Given the description of an element on the screen output the (x, y) to click on. 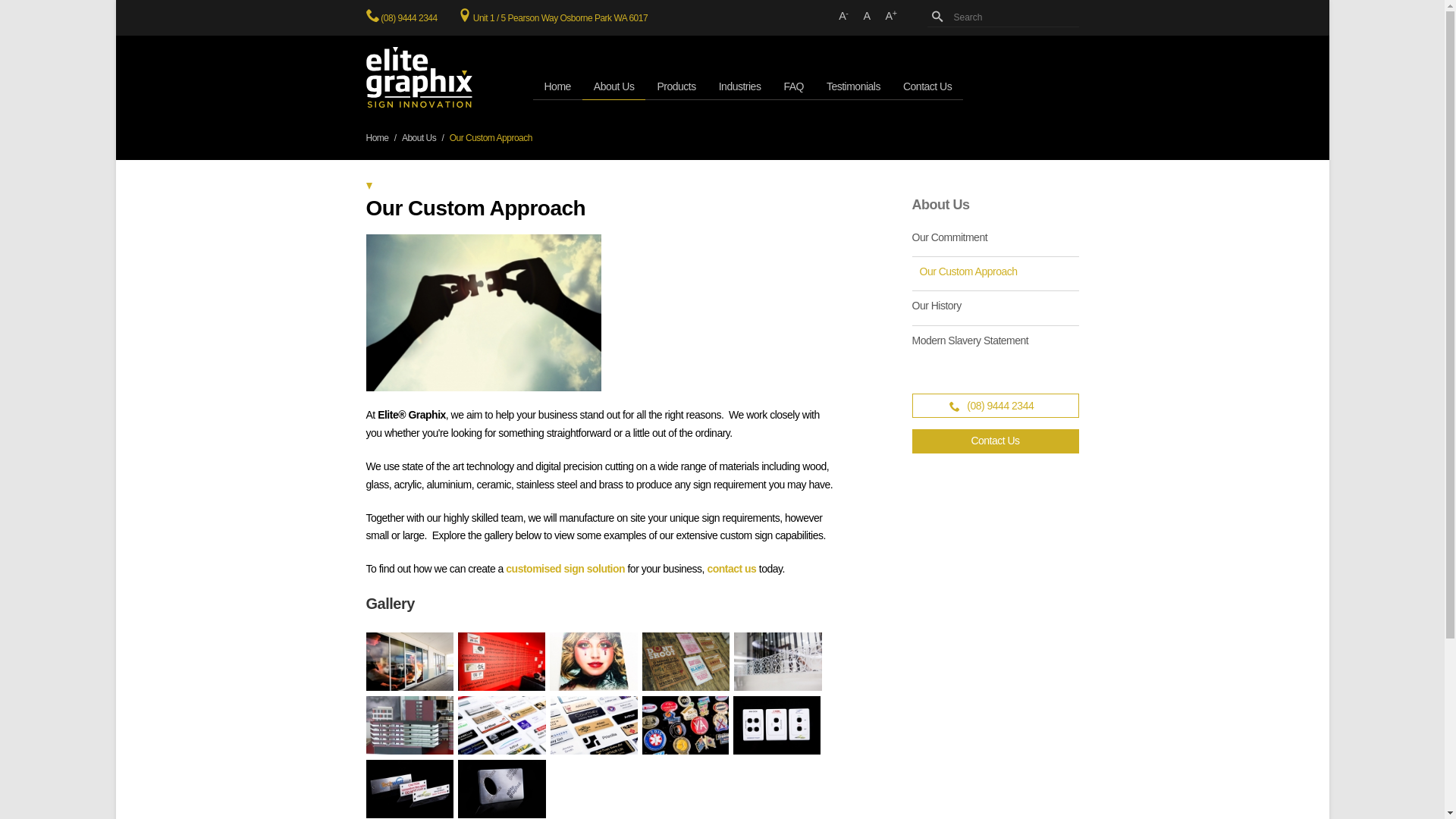
Our Custom Approach Element type: text (994, 271)
Testimonials Element type: text (853, 86)
A+ Element type: text (891, 15)
contact us Element type: text (732, 568)
A- Element type: text (842, 15)
Unit 1 / 5 Pearson Way Osborne Park WA 6017 Element type: text (560, 18)
A Element type: text (865, 15)
About Us Element type: text (418, 138)
Search Element type: hover (1002, 17)
(08) 9444 2344 Element type: text (994, 405)
Products Element type: text (675, 86)
FAQ Element type: text (793, 86)
customised sign solution Element type: text (564, 568)
About Us Element type: text (614, 86)
About Us Element type: text (940, 205)
Contact Us Element type: text (994, 441)
Modern Slavery Statement Element type: text (994, 340)
Our Commitment Element type: text (994, 241)
Industries Element type: text (739, 86)
Home Element type: text (376, 138)
Our History Element type: text (994, 305)
Home Element type: text (556, 86)
Contact Us Element type: text (927, 86)
